Given the description of an element on the screen output the (x, y) to click on. 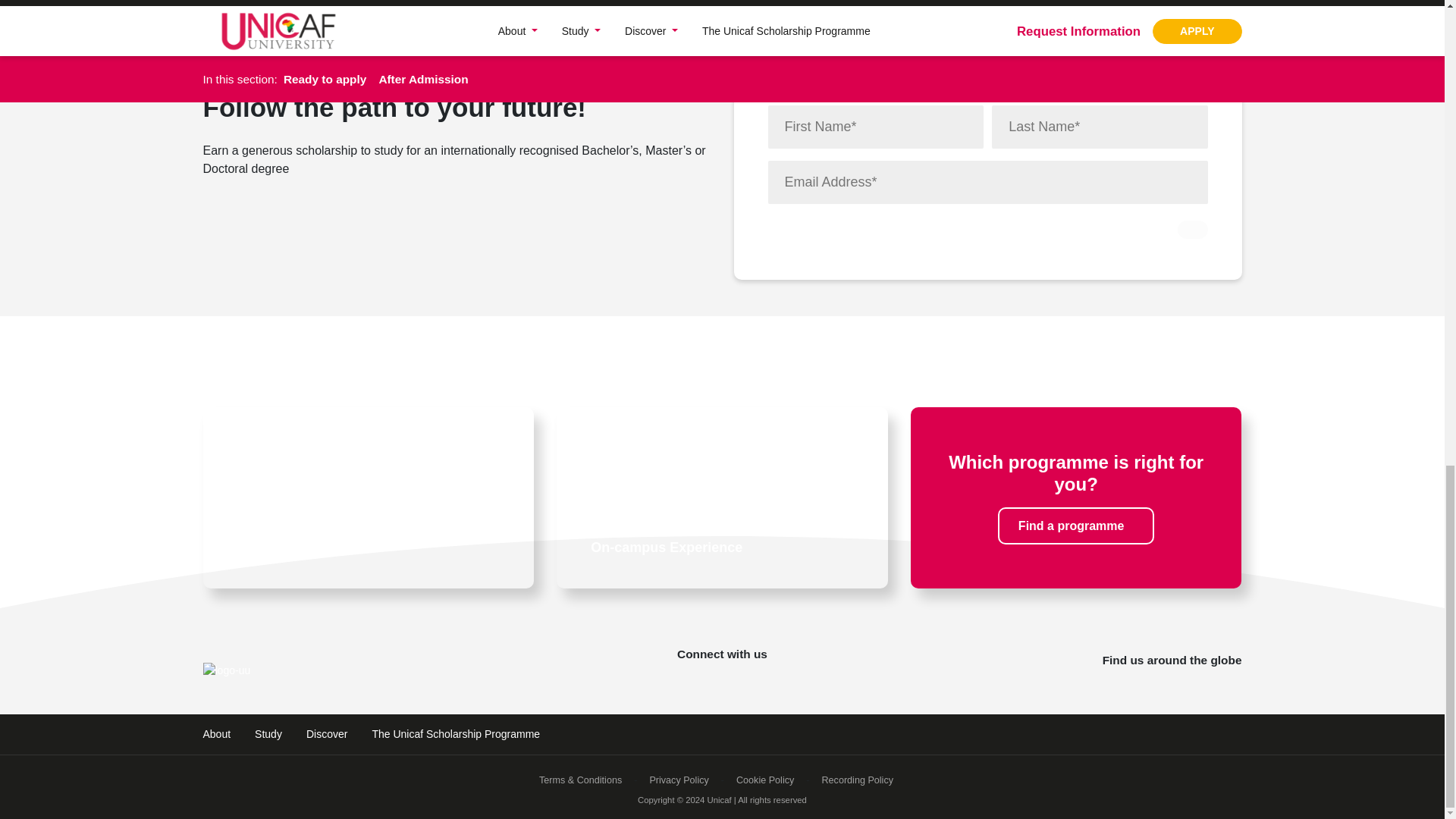
Privacy Policy (678, 780)
Recording Policy (857, 780)
Cookie Policy (764, 780)
